Given the description of an element on the screen output the (x, y) to click on. 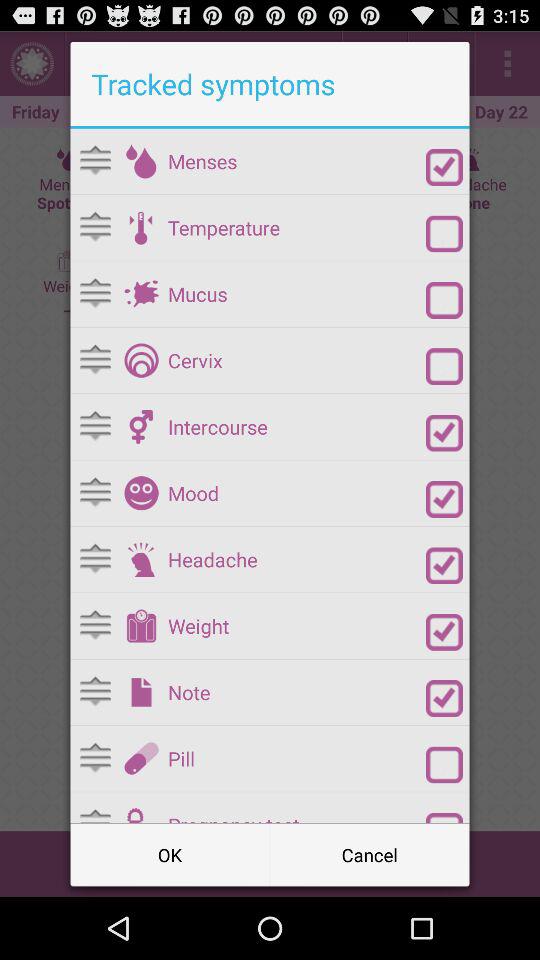
go to selcet (444, 698)
